Given the description of an element on the screen output the (x, y) to click on. 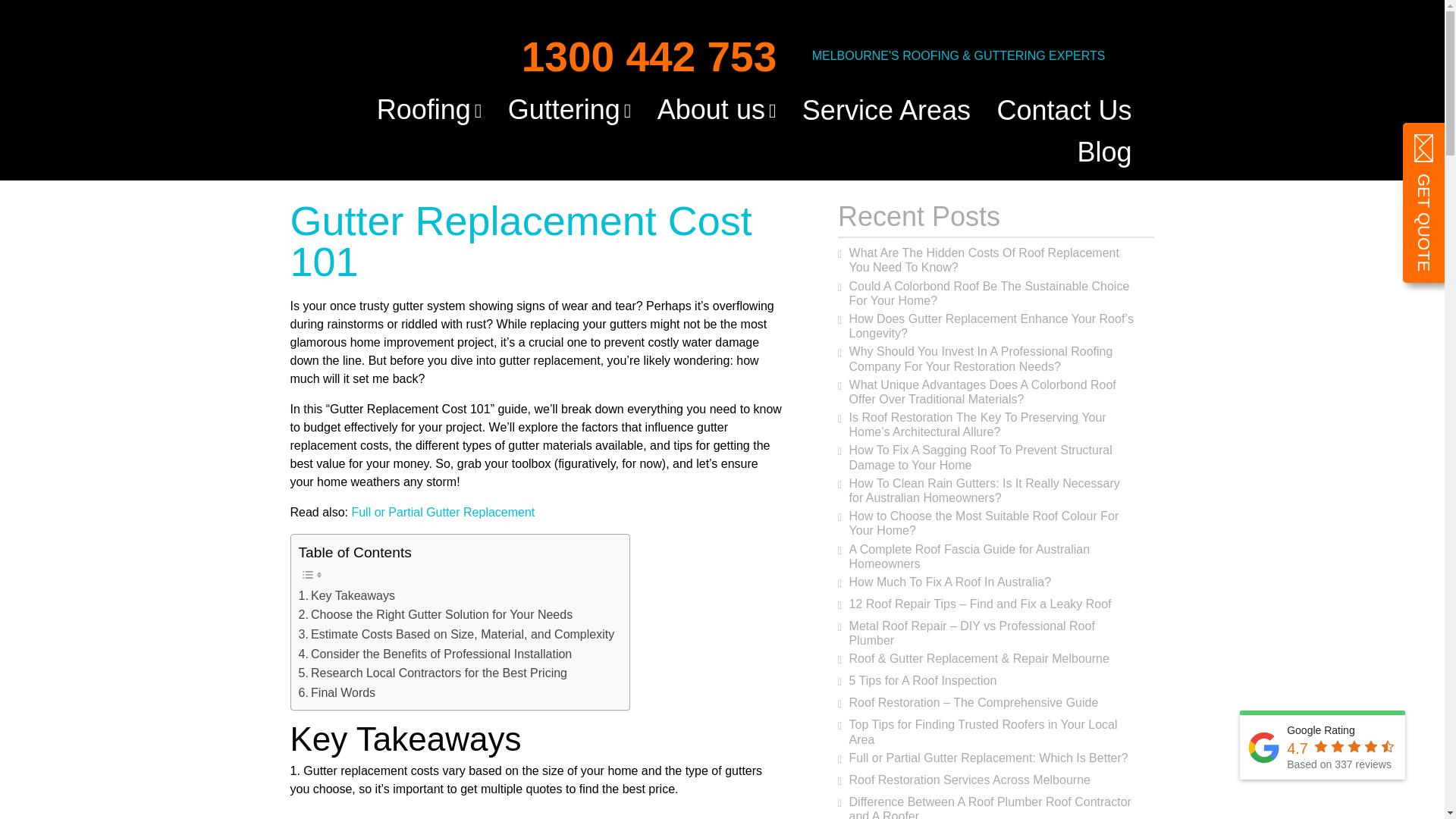
Roofing (429, 109)
1300 442 753 (635, 53)
Research Local Contractors for the Best Pricing (432, 673)
Final Words (336, 692)
About us (717, 109)
Blog (1104, 151)
Research Local Contractors for the Best Pricing (432, 673)
Key Takeaways (346, 596)
Key Takeaways (346, 596)
Estimate Costs Based on Size, Material, and Complexity (456, 634)
